Given the description of an element on the screen output the (x, y) to click on. 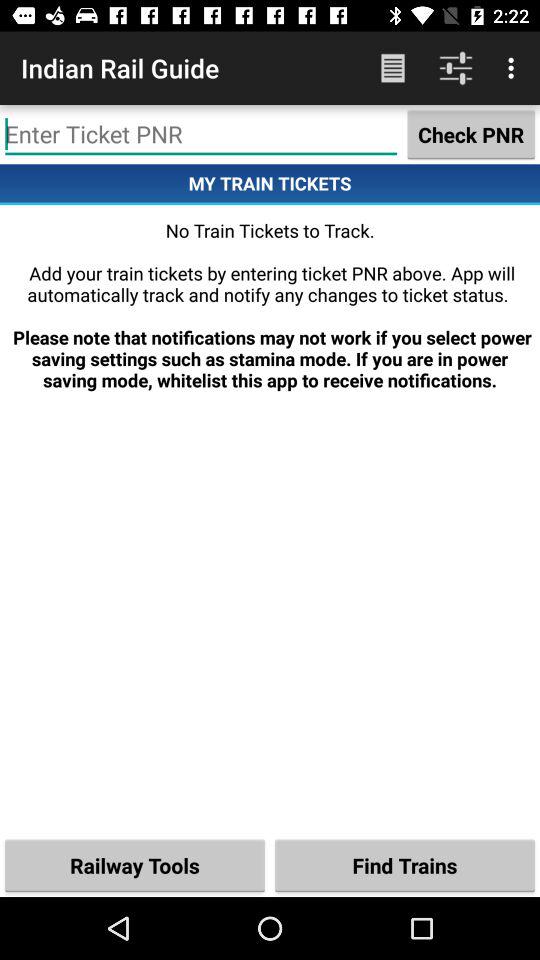
choose the icon to the right of the railway tools icon (405, 864)
